Given the description of an element on the screen output the (x, y) to click on. 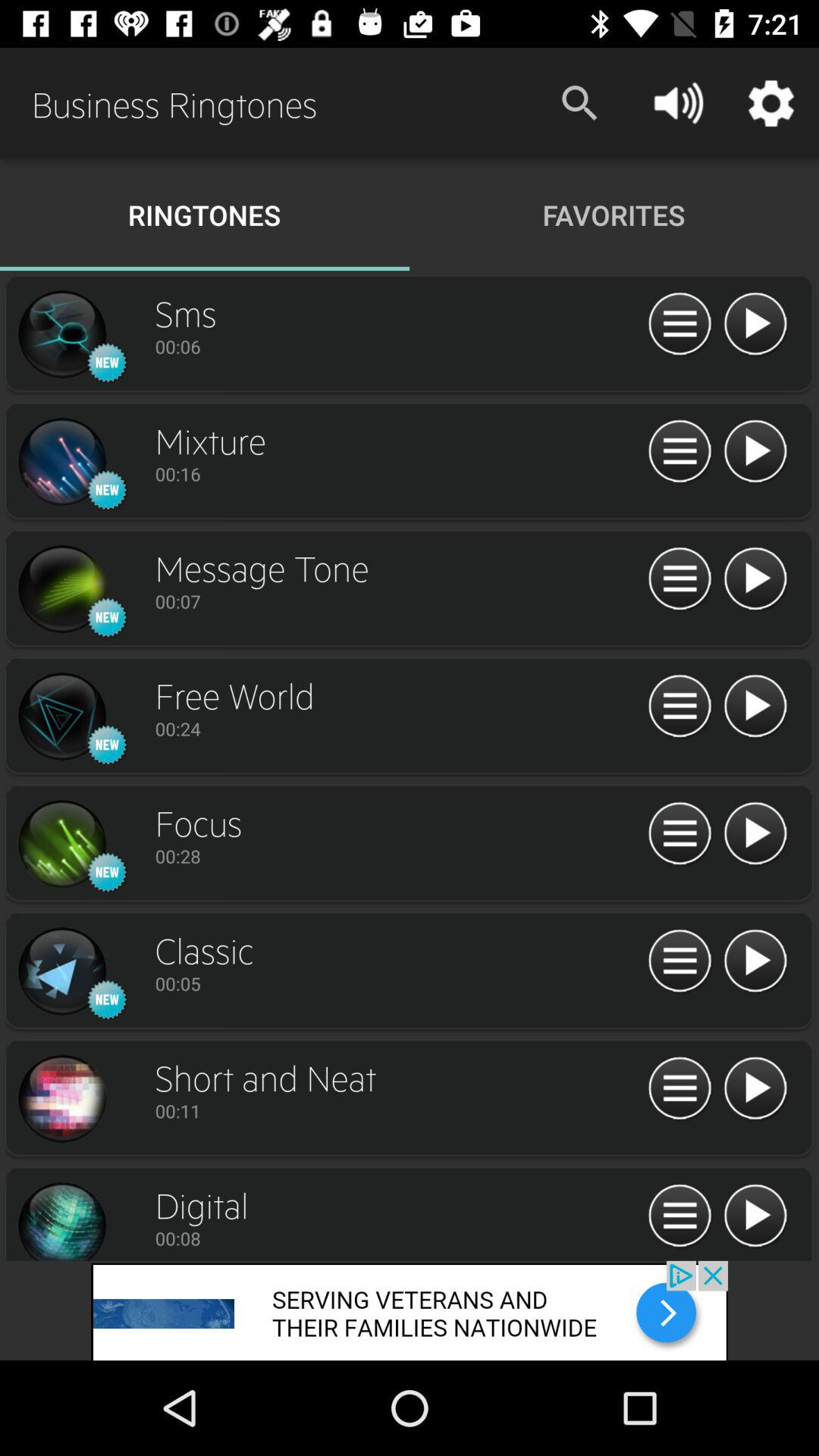
click arrow (755, 834)
